Given the description of an element on the screen output the (x, y) to click on. 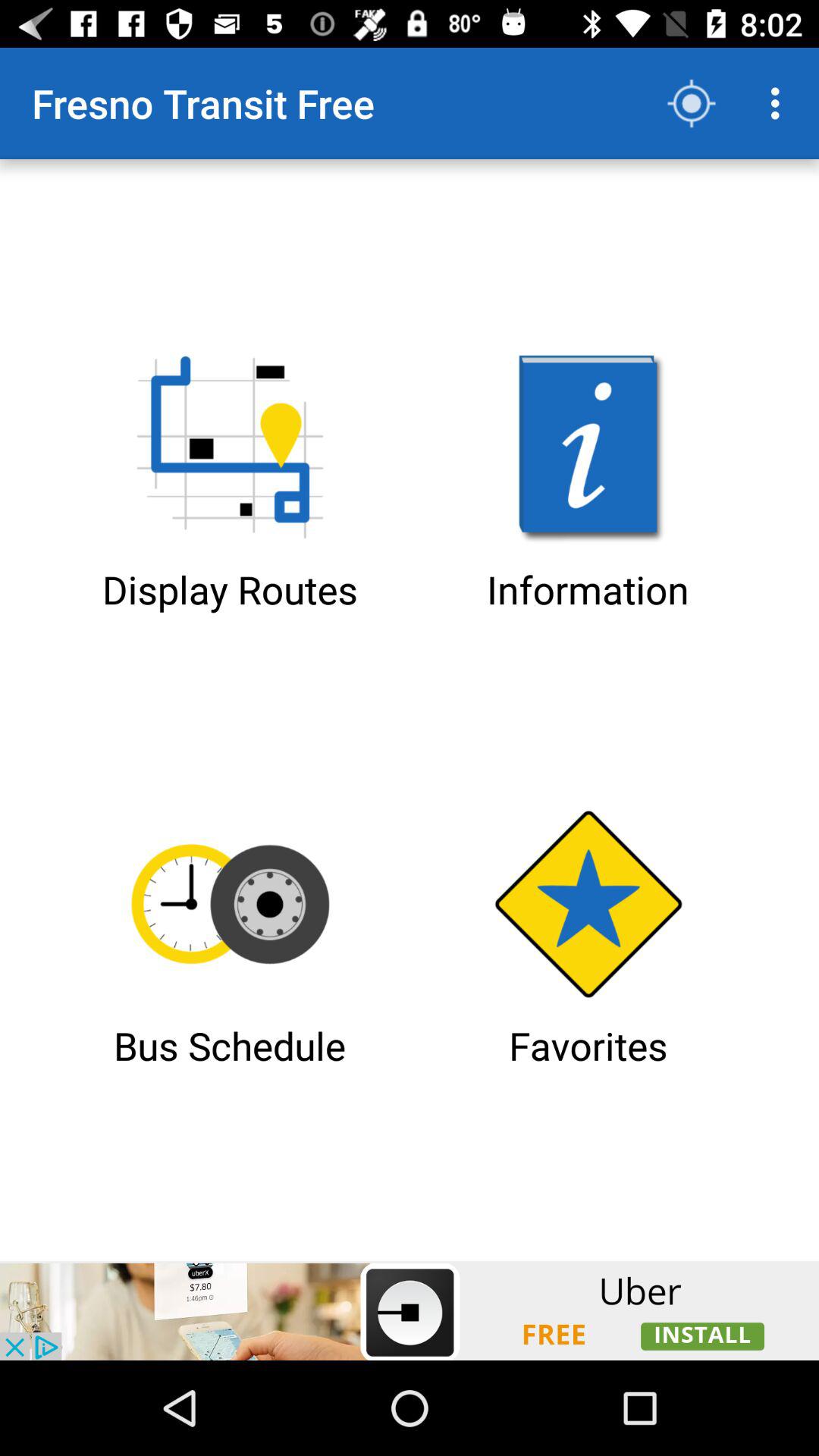
sponsored advertisement (409, 1310)
